Given the description of an element on the screen output the (x, y) to click on. 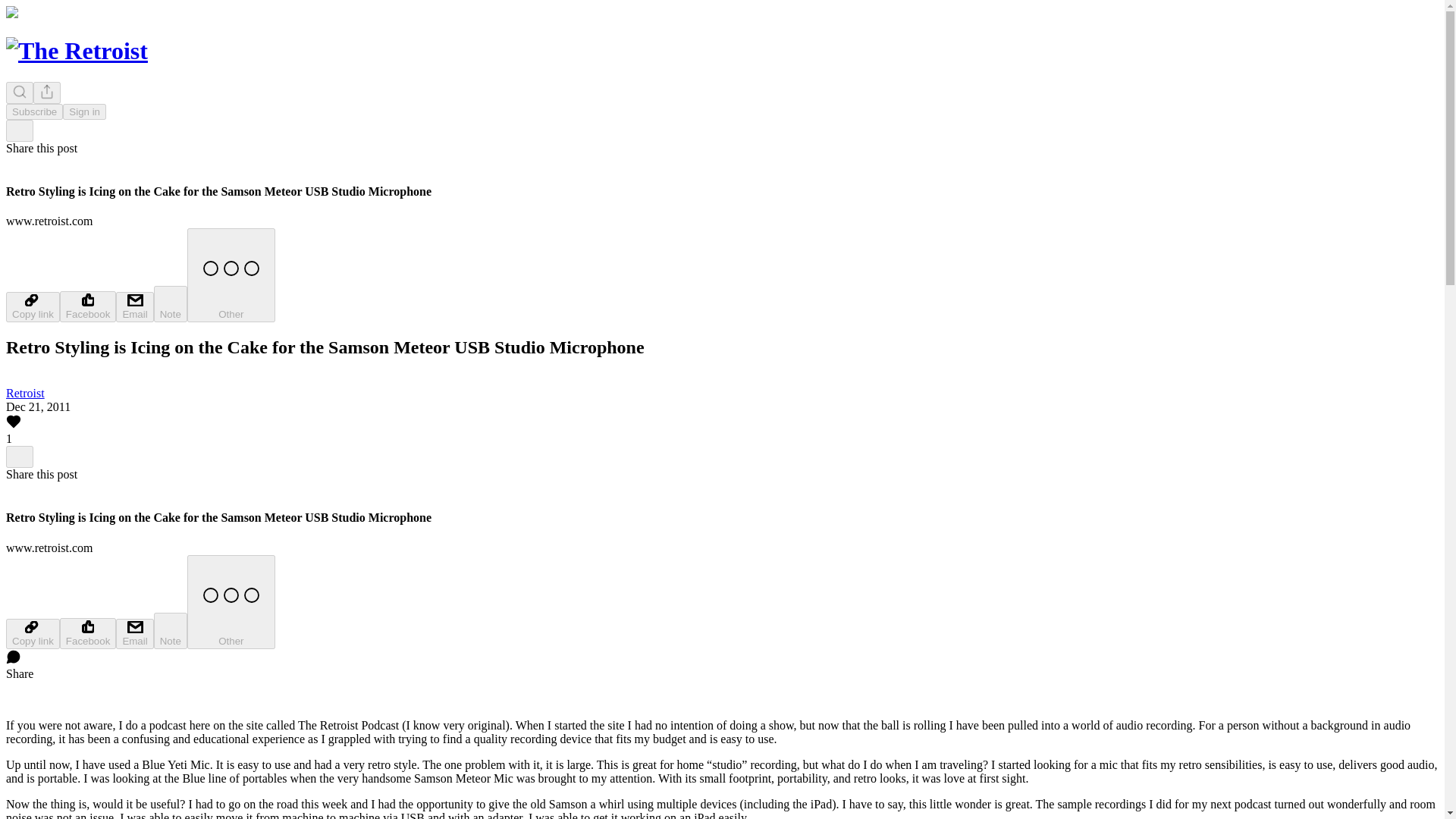
Facebook (87, 306)
Note (170, 630)
Copy link (32, 634)
Subscribe (33, 111)
Email (134, 634)
Copy link (32, 306)
Retroist (25, 392)
Other (231, 602)
Facebook (87, 633)
Sign in (84, 111)
